Given the description of an element on the screen output the (x, y) to click on. 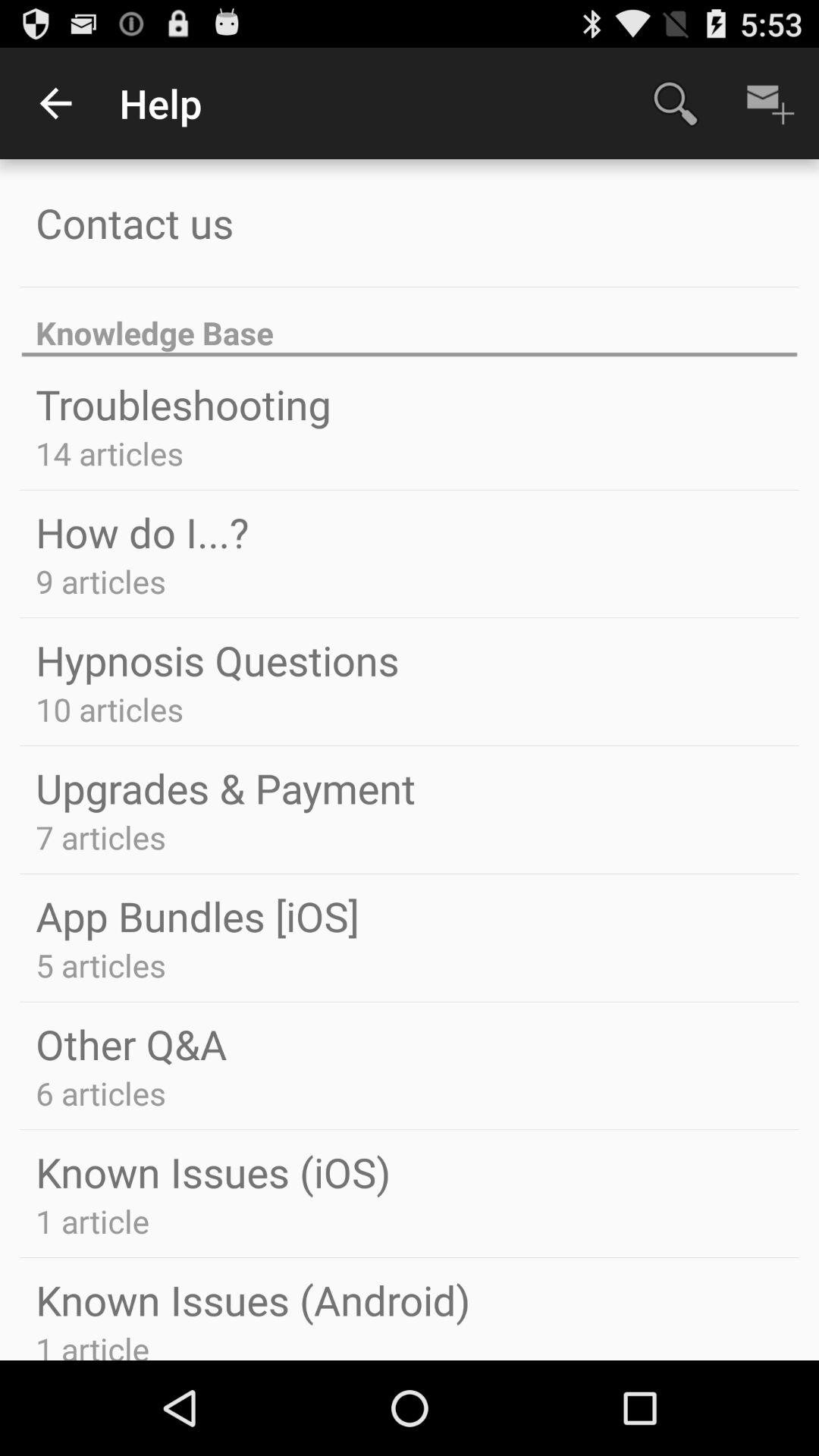
jump until app bundles [ios] icon (197, 915)
